Given the description of an element on the screen output the (x, y) to click on. 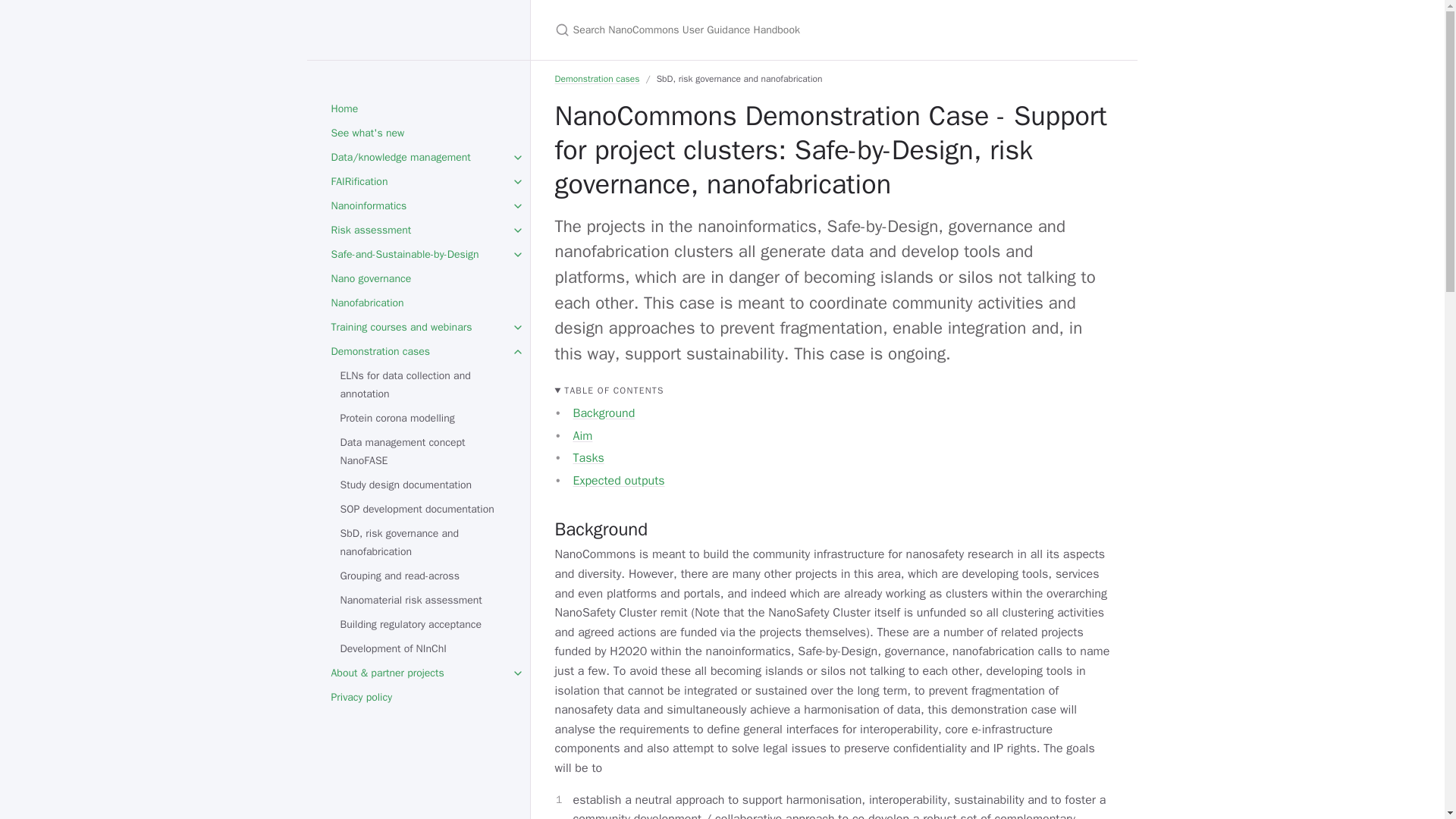
Home (417, 109)
Nanoinformatics (417, 206)
FAIRification (417, 181)
See what's new (417, 133)
